Given the description of an element on the screen output the (x, y) to click on. 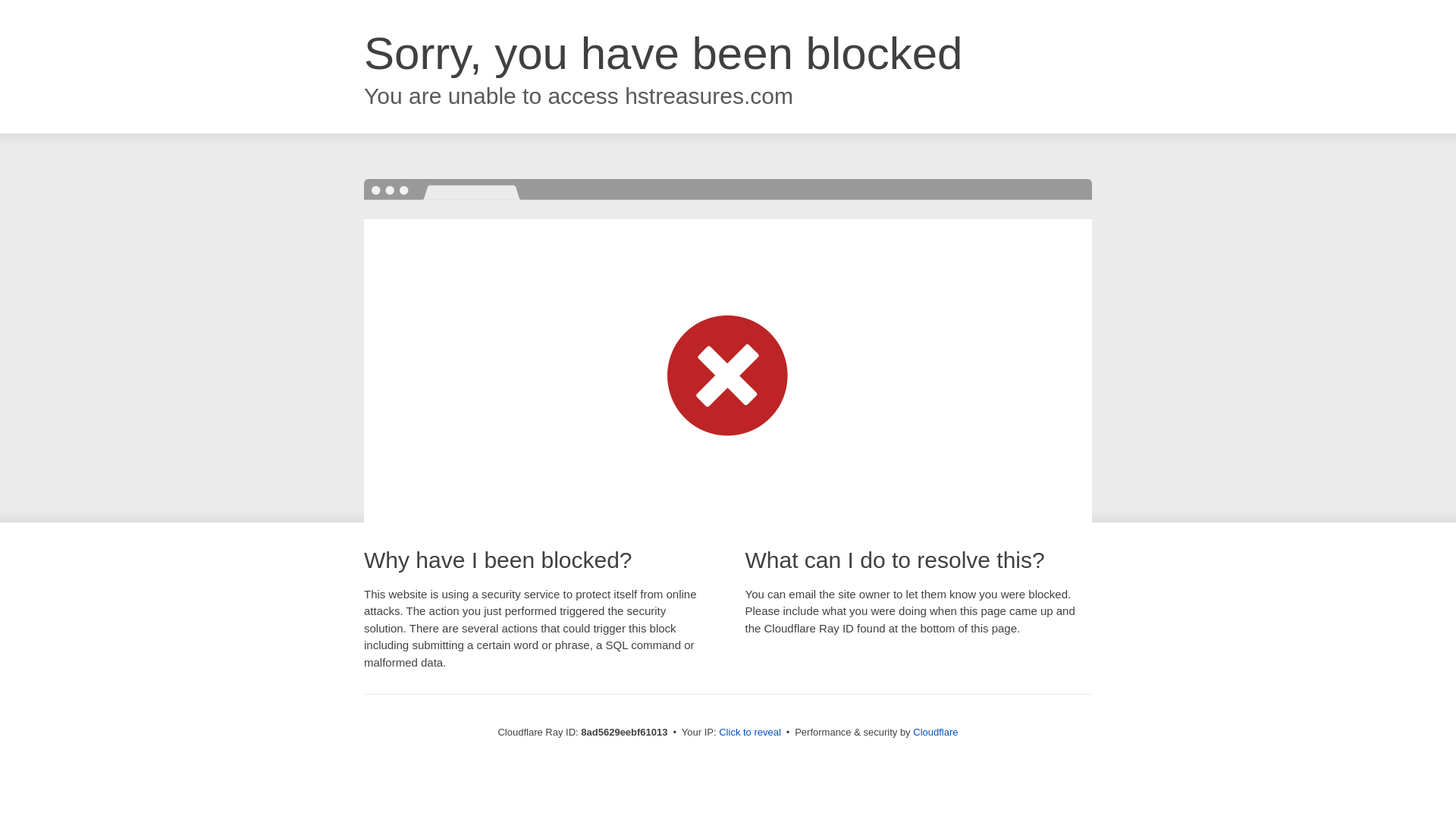
Click to reveal (749, 732)
Cloudflare (935, 731)
